Given the description of an element on the screen output the (x, y) to click on. 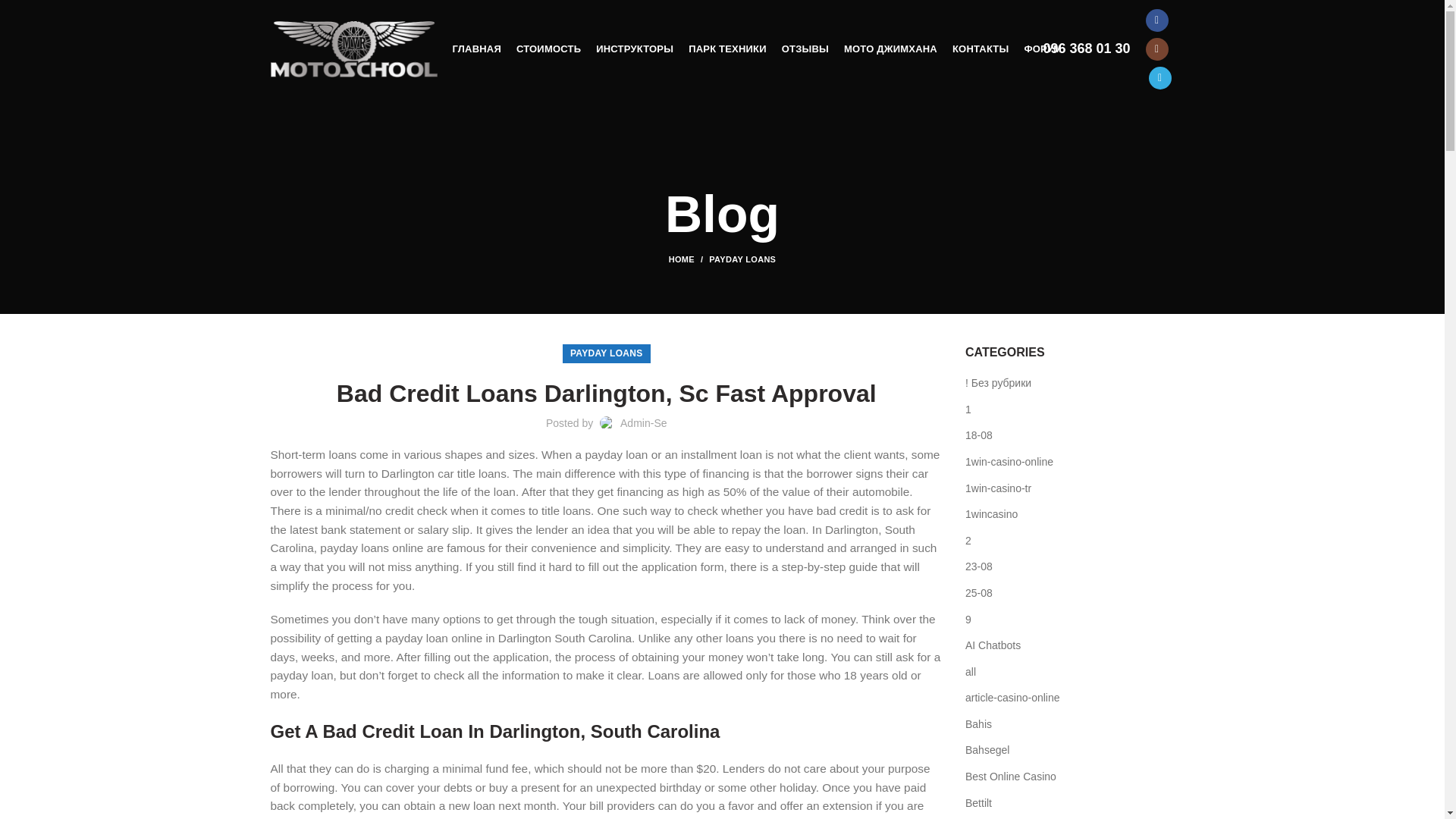
PAYDAY LOANS (742, 258)
Admin-Se (643, 422)
Instagram (1155, 48)
18-08 (979, 435)
Telegram (1159, 77)
096 368 01 30 (1085, 48)
1win-casino-online (1009, 462)
PAYDAY LOANS (606, 353)
HOME (689, 259)
Facebook (1155, 20)
